Given the description of an element on the screen output the (x, y) to click on. 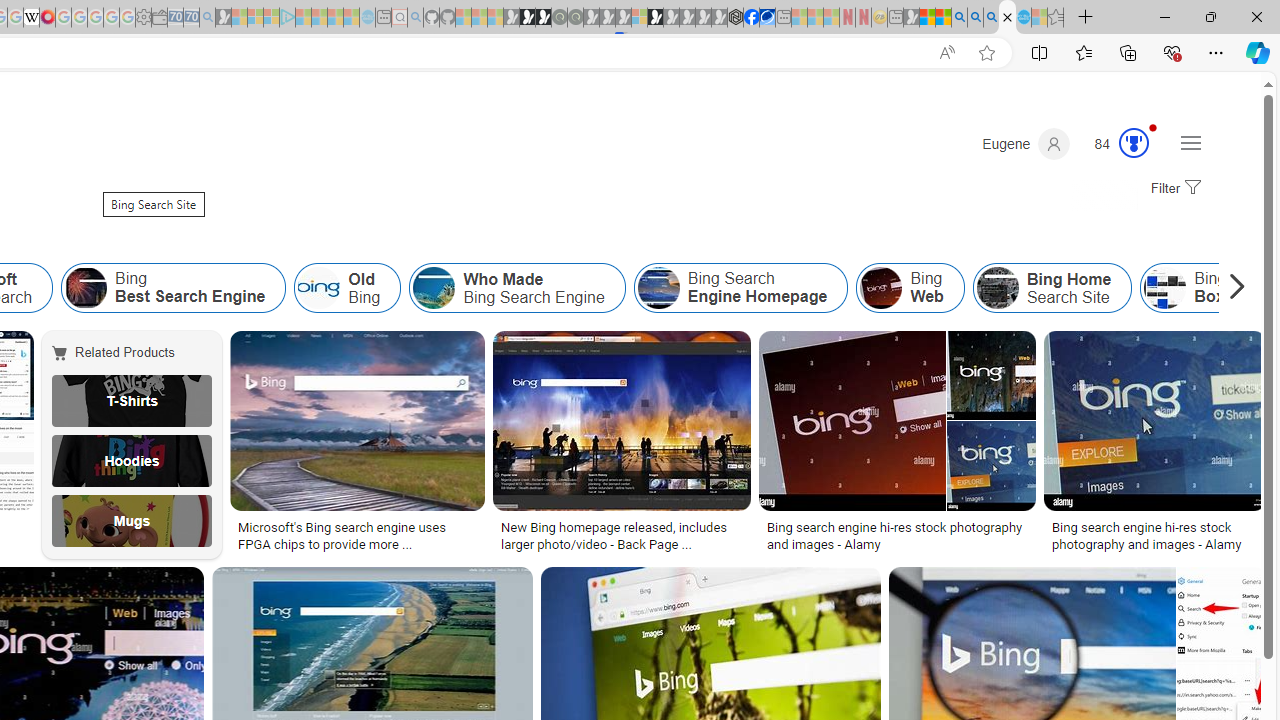
Hoodies (132, 460)
Bing AI - Search (959, 17)
Bing Home Search Site (996, 287)
MediaWiki (47, 17)
Bing Hoodies (132, 460)
Play Zoo Boom in your browser | Games from Microsoft Start (527, 17)
Nordace | Facebook (751, 17)
Who Made Bing Search Engine (434, 287)
